Given the description of an element on the screen output the (x, y) to click on. 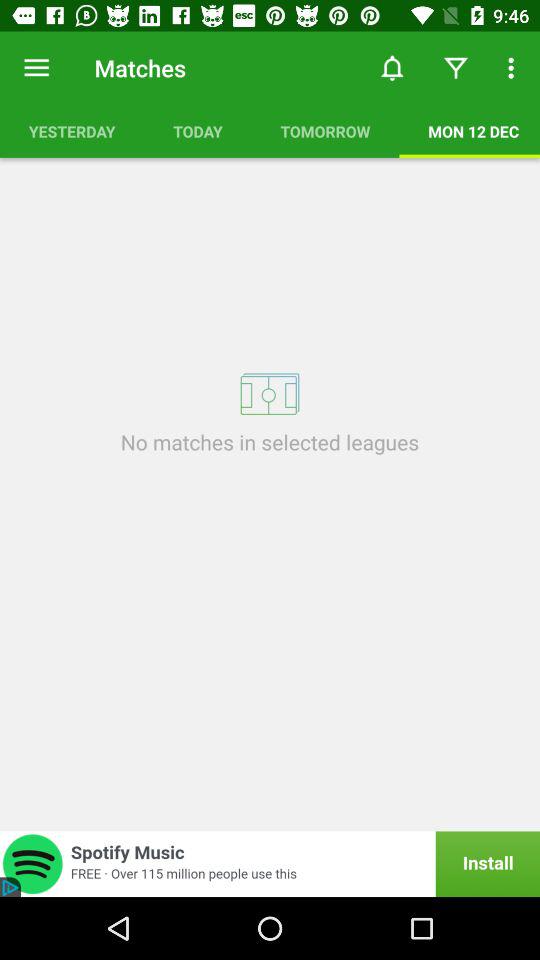
tap yesterday item (72, 131)
